Given the description of an element on the screen output the (x, y) to click on. 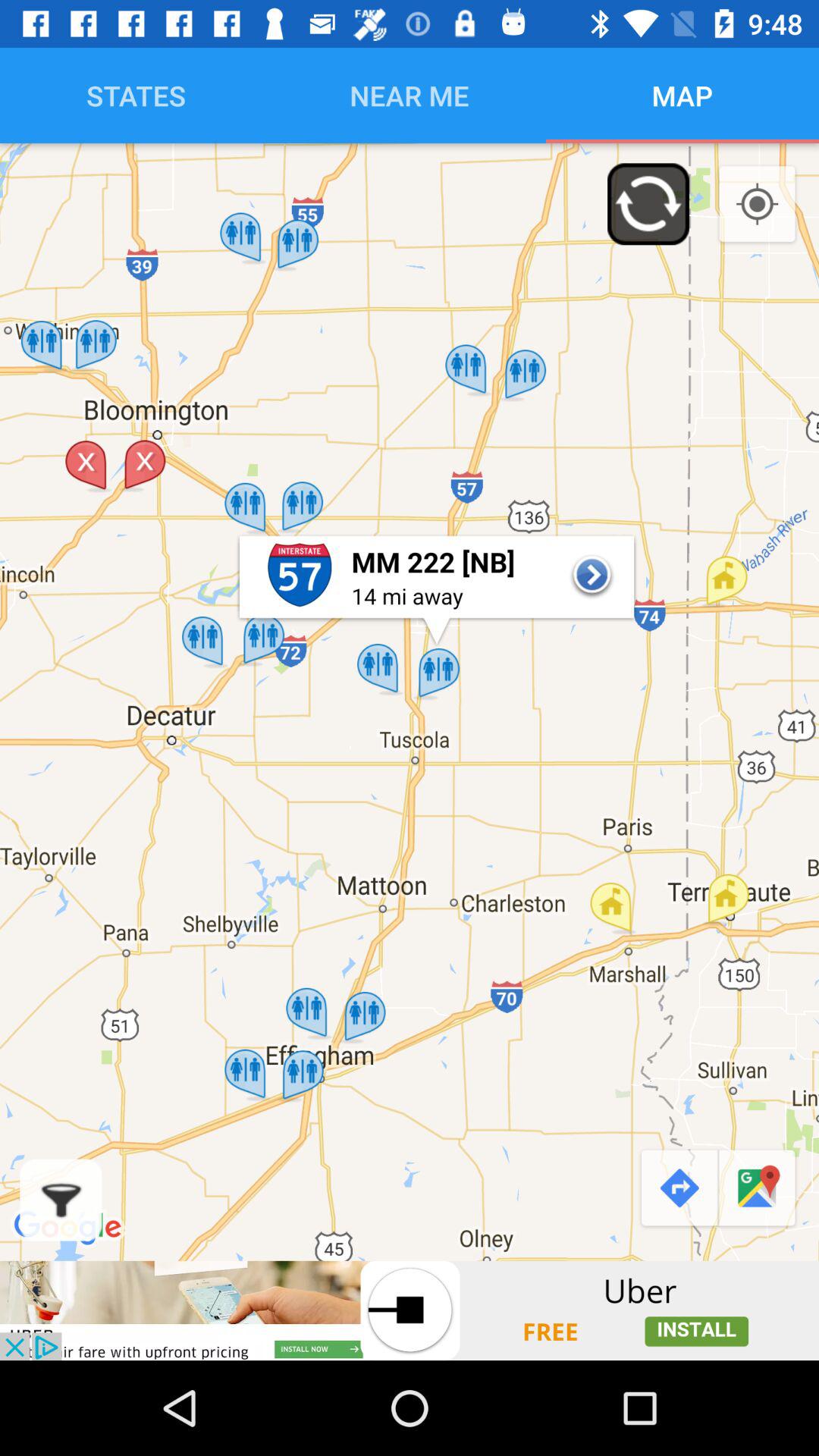
goes to advertiser 's website (409, 1310)
